Given the description of an element on the screen output the (x, y) to click on. 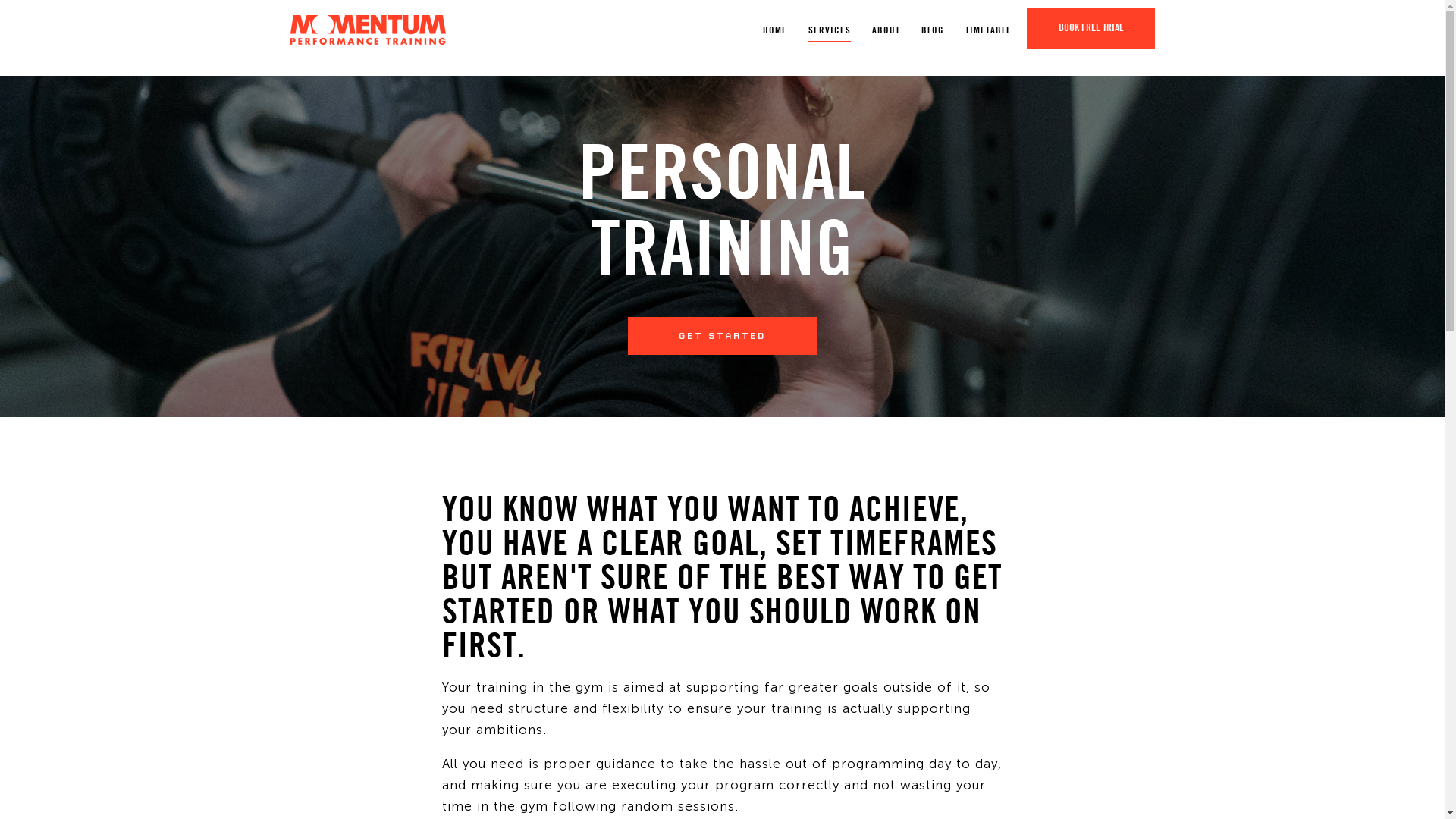
GET STARTED Element type: text (722, 335)
BLOG Element type: text (931, 29)
BOOK FREE TRIAL Element type: text (1090, 27)
HOME Element type: text (774, 29)
SERVICES Element type: text (829, 29)
ABOUT Element type: text (886, 29)
TIMETABLE Element type: text (987, 29)
